Given the description of an element on the screen output the (x, y) to click on. 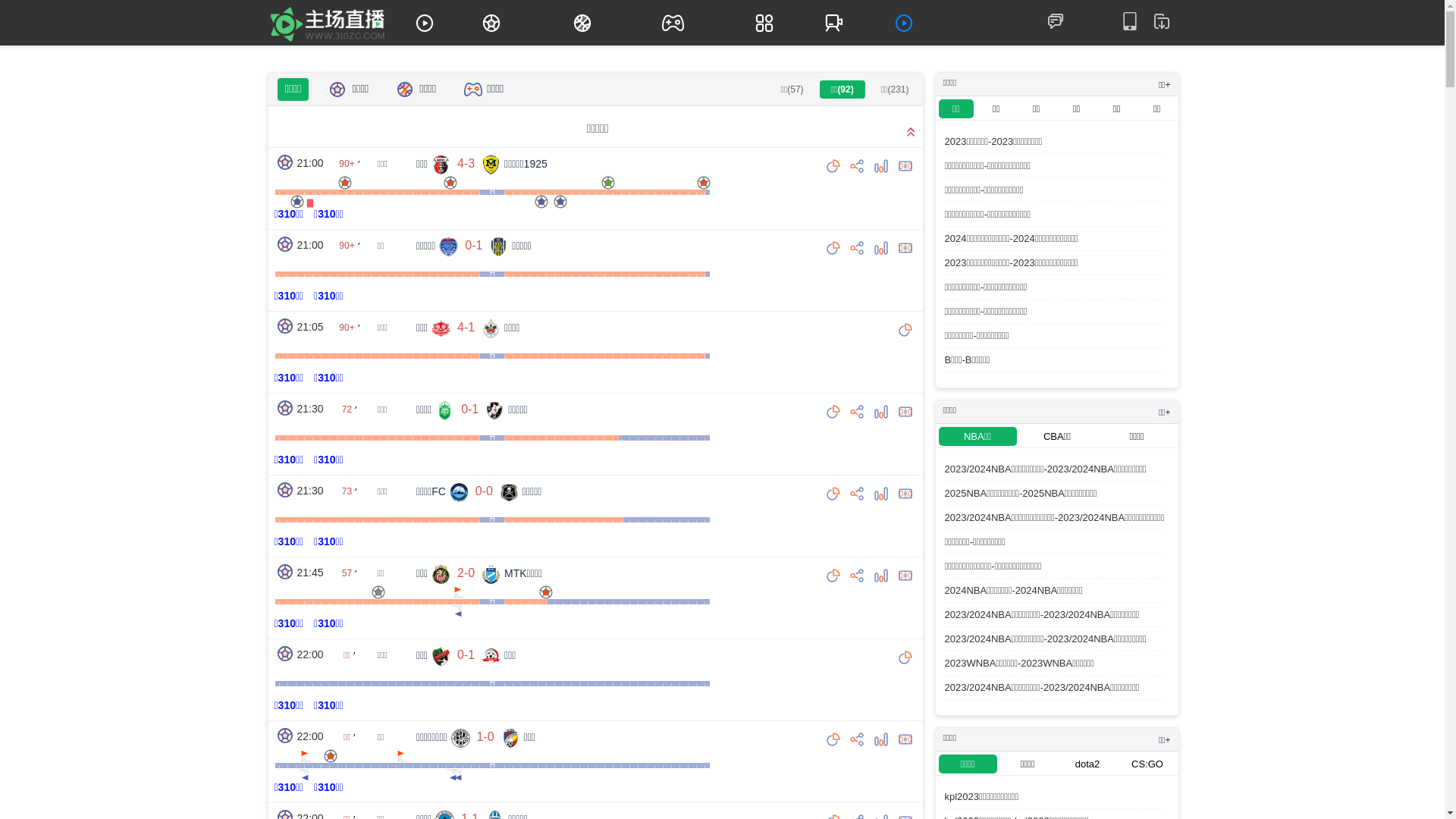
dota2 Element type: text (1087, 763)
CS:GO Element type: text (1146, 763)
